Given the description of an element on the screen output the (x, y) to click on. 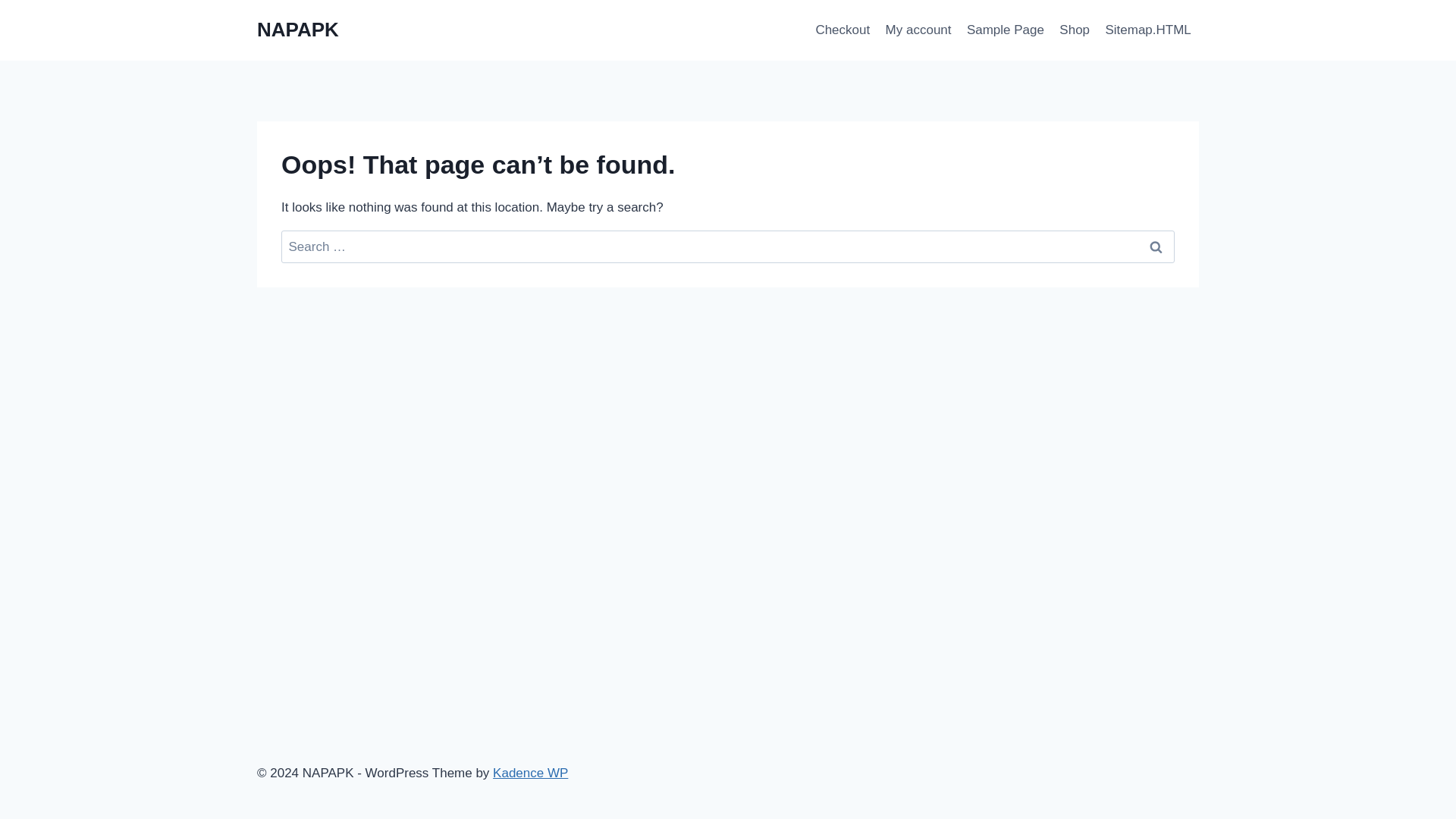
Checkout (842, 30)
Search (1155, 246)
My account (917, 30)
Search (1155, 246)
Kadence WP (530, 772)
NAPAPK (298, 29)
Sitemap.HTML (1147, 30)
Shop (1074, 30)
Sample Page (1005, 30)
Search (1155, 246)
